Given the description of an element on the screen output the (x, y) to click on. 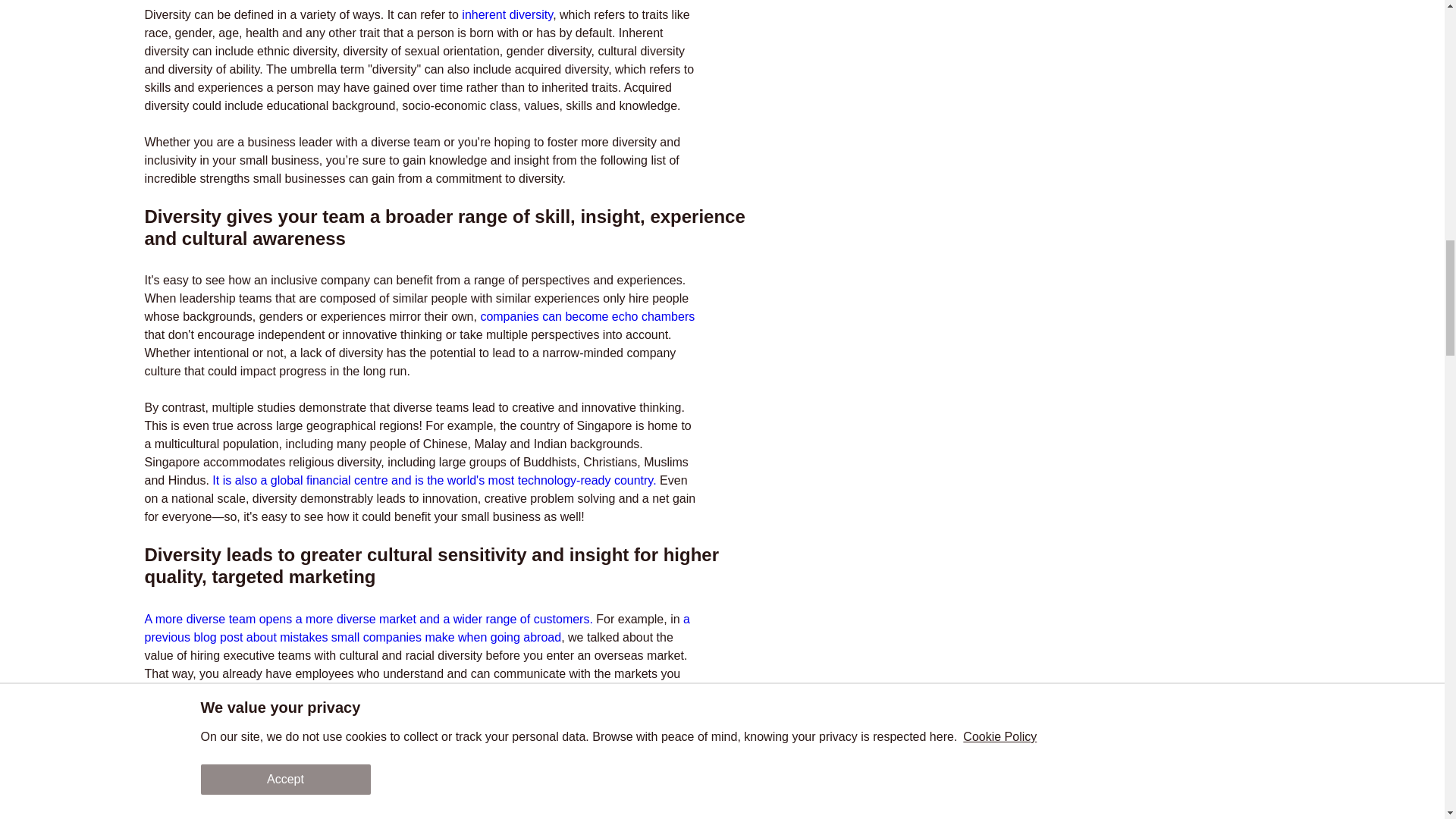
inherent diversity (507, 14)
some content (1135, 36)
companies can become echo chambers (587, 316)
